Given the description of an element on the screen output the (x, y) to click on. 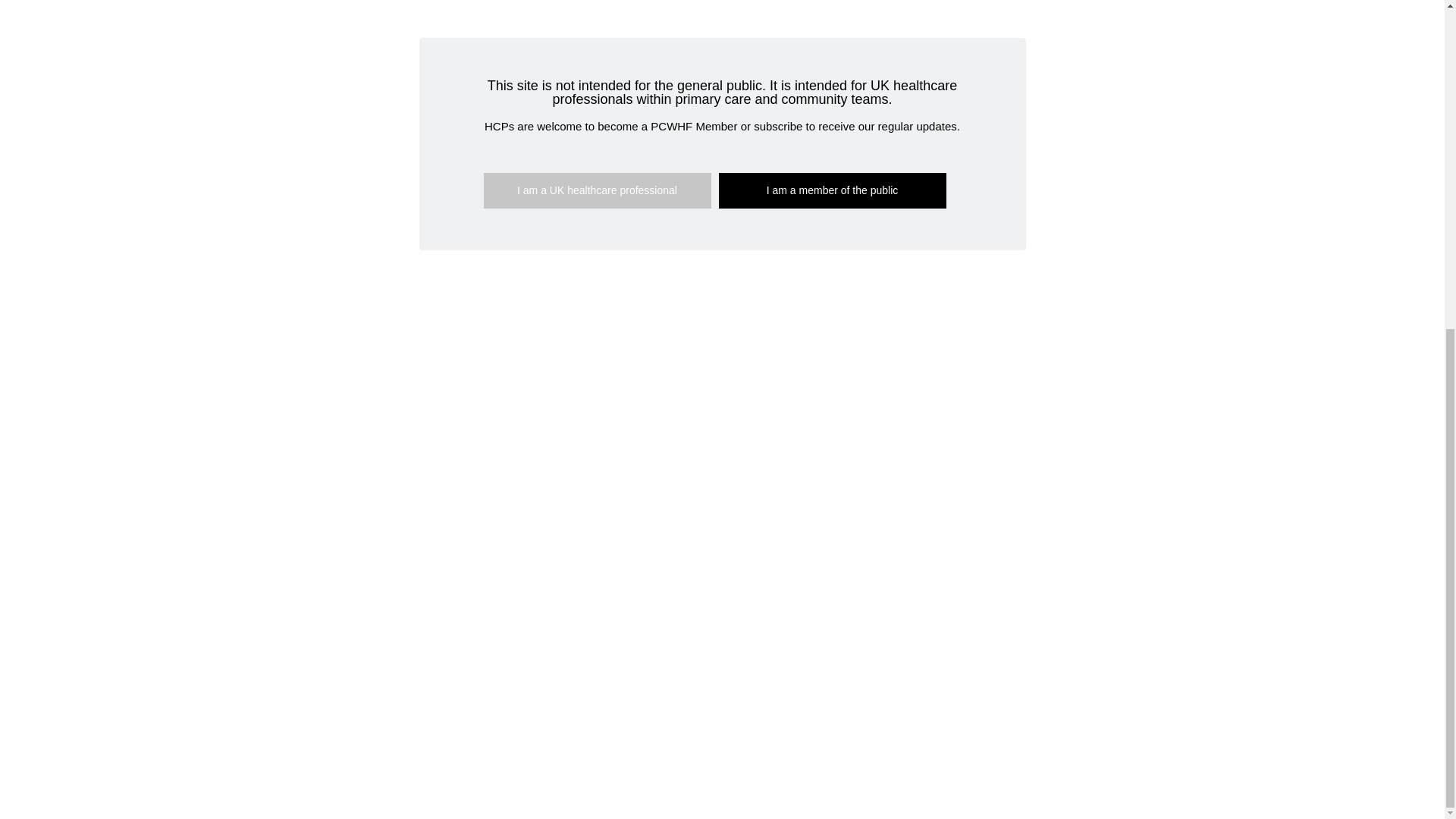
Follow on X (987, 673)
Follow on Facebook (956, 673)
